Given the description of an element on the screen output the (x, y) to click on. 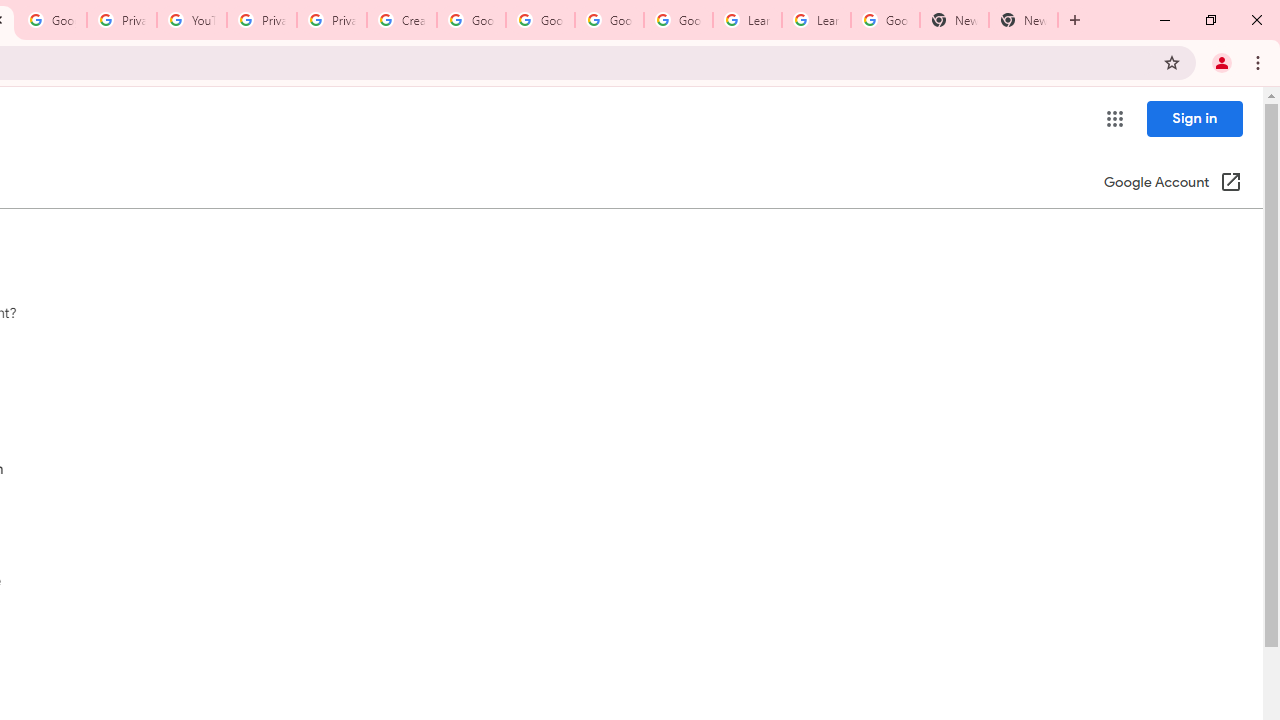
Google Account (Open in a new window) (1172, 183)
YouTube (191, 20)
Google Account (885, 20)
Google Account Help (470, 20)
Create your Google Account (401, 20)
